Given the description of an element on the screen output the (x, y) to click on. 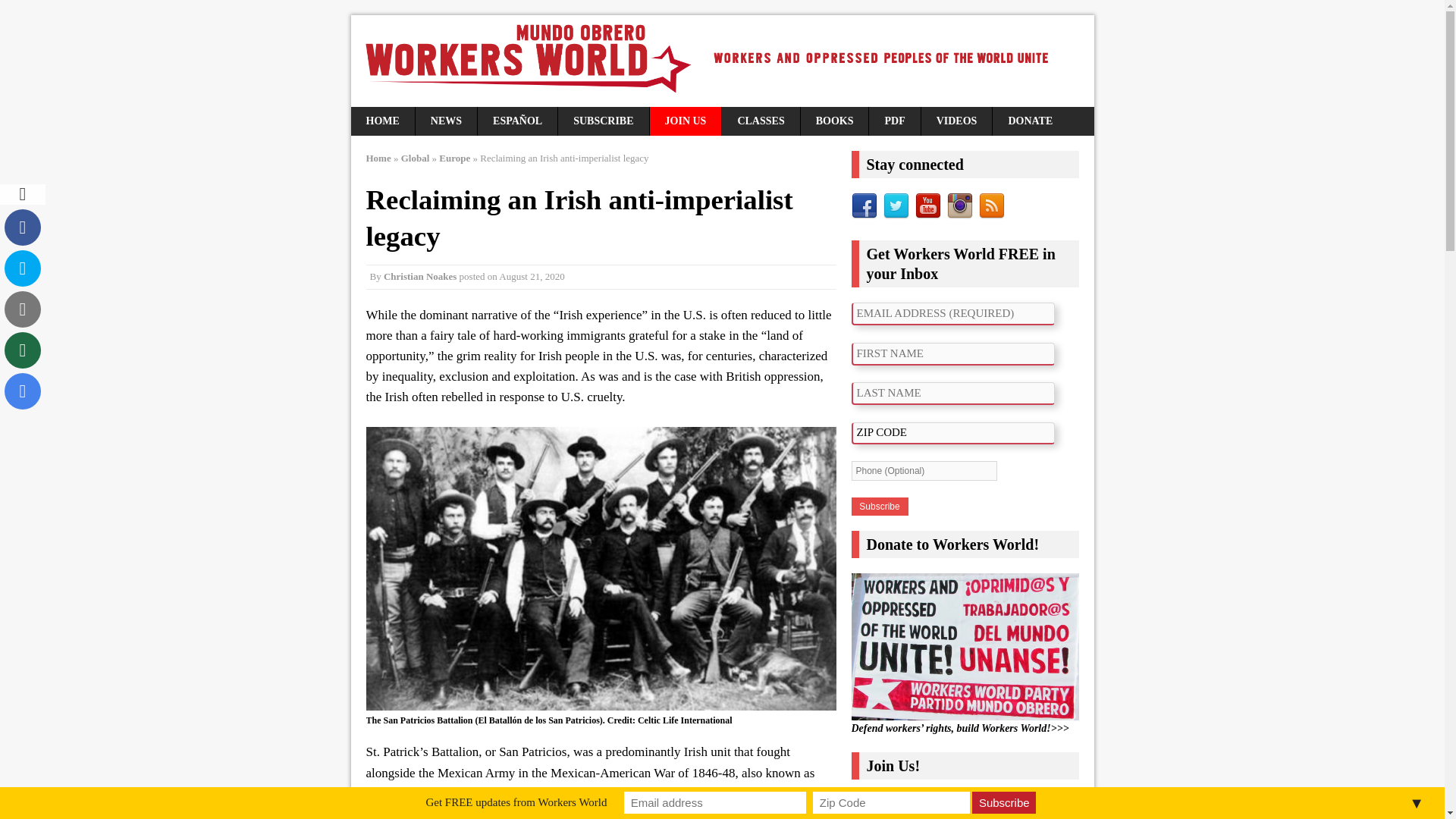
Subscribe (878, 506)
Workers World (721, 61)
Subscribe (1003, 802)
